Given the description of an element on the screen output the (x, y) to click on. 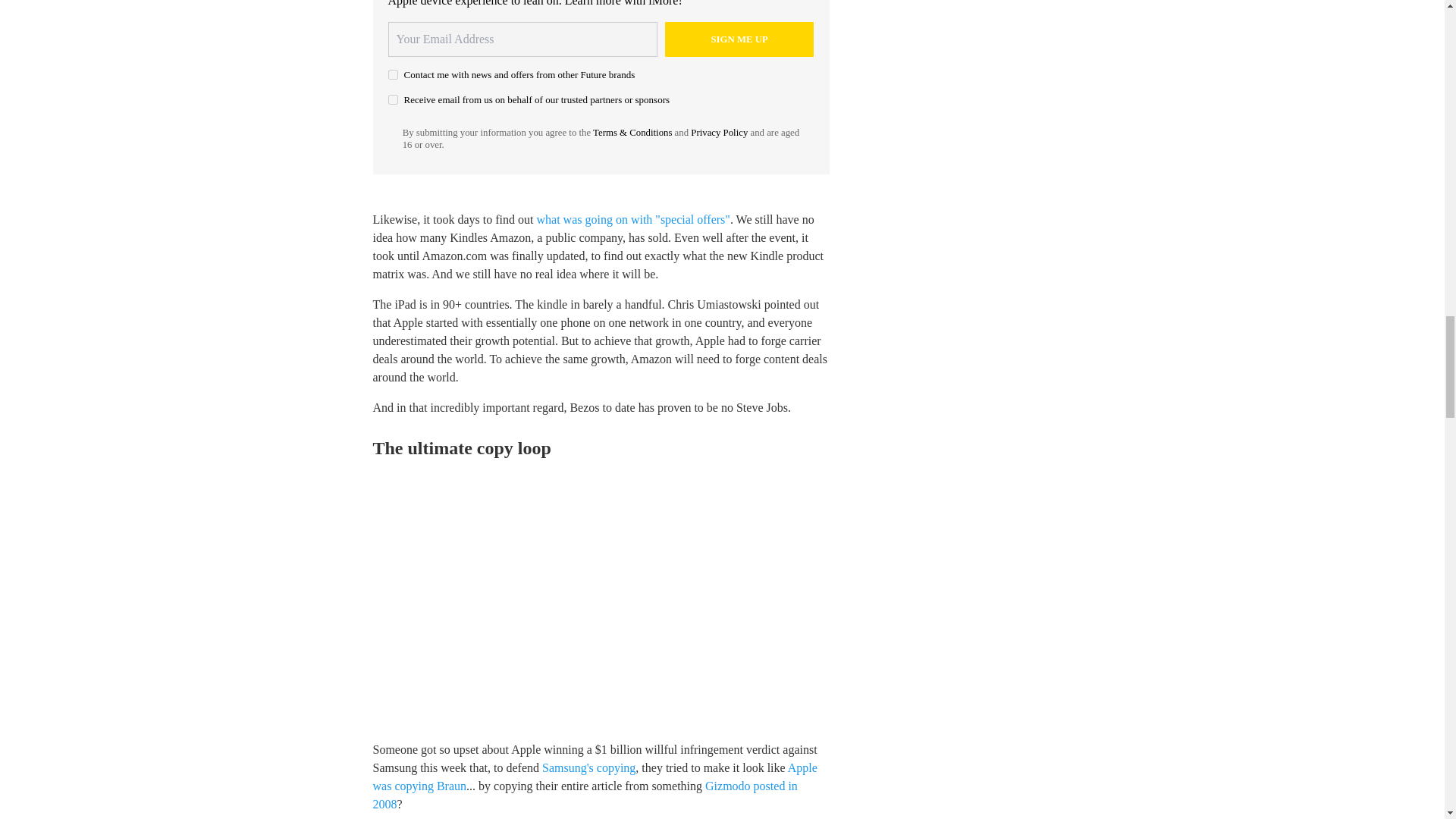
Sign me up (739, 39)
on (392, 99)
on (392, 74)
